Given the description of an element on the screen output the (x, y) to click on. 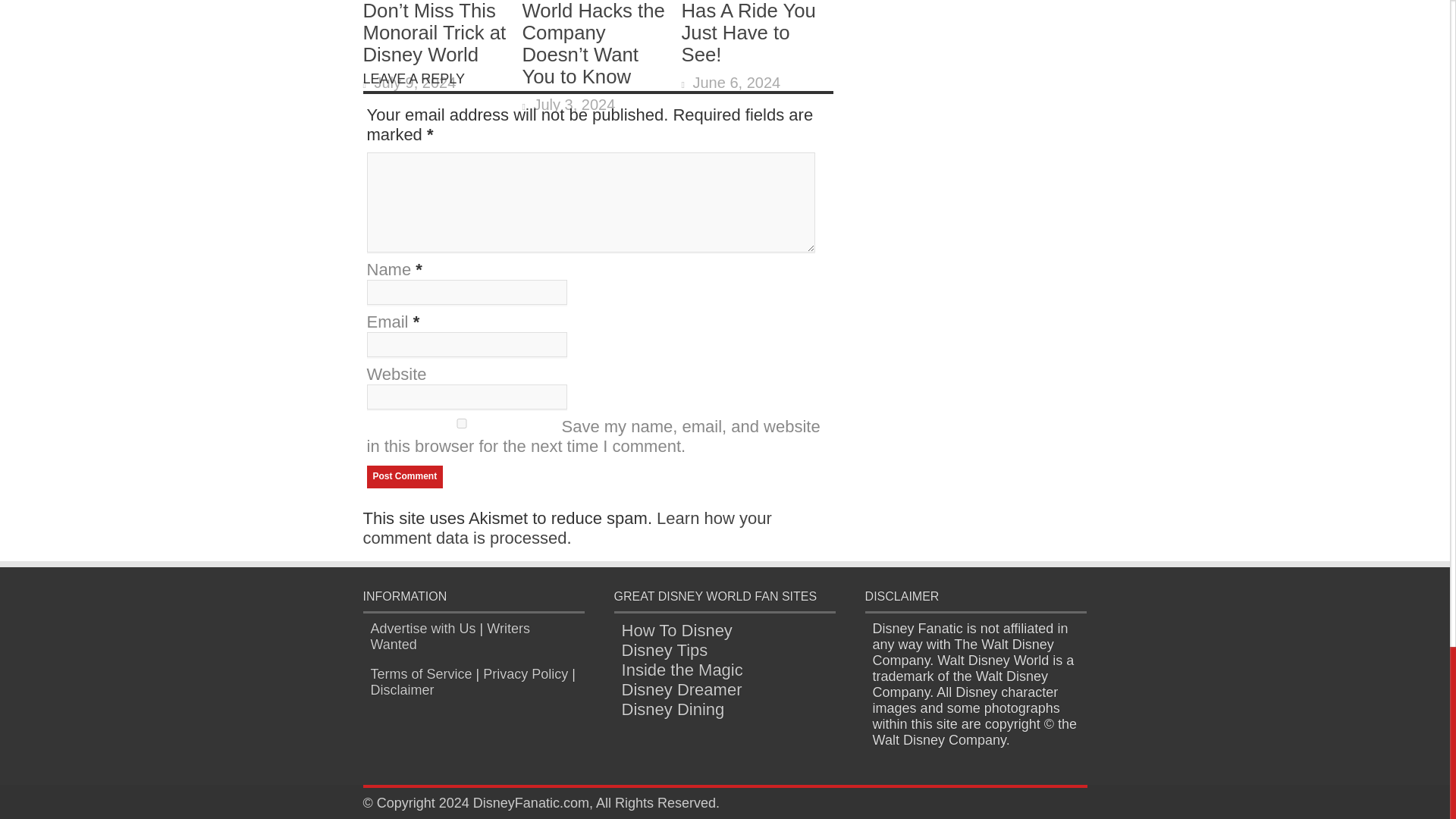
Post Comment (405, 477)
Learn how your comment data is processed (566, 527)
Post Comment (405, 477)
yes (461, 423)
